Given the description of an element on the screen output the (x, y) to click on. 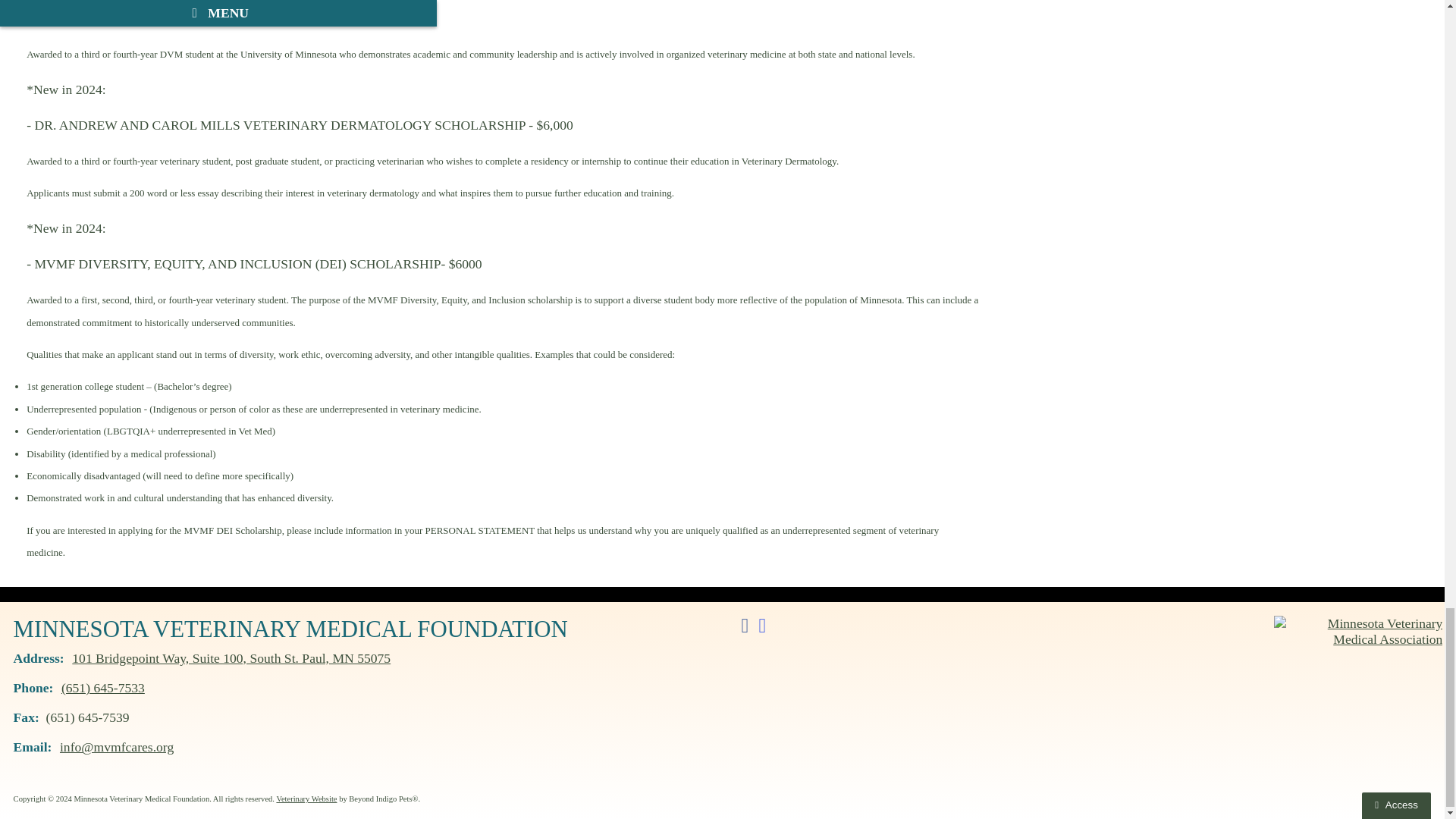
Veterinary Website (306, 798)
MVMA (1358, 630)
Minnesota Veterinary Medical Association (1358, 631)
Beyond Indigo Pets (306, 798)
101 Bridgepoint Way, Suite 100, South St. Paul, MN 55075 (231, 657)
